Given the description of an element on the screen output the (x, y) to click on. 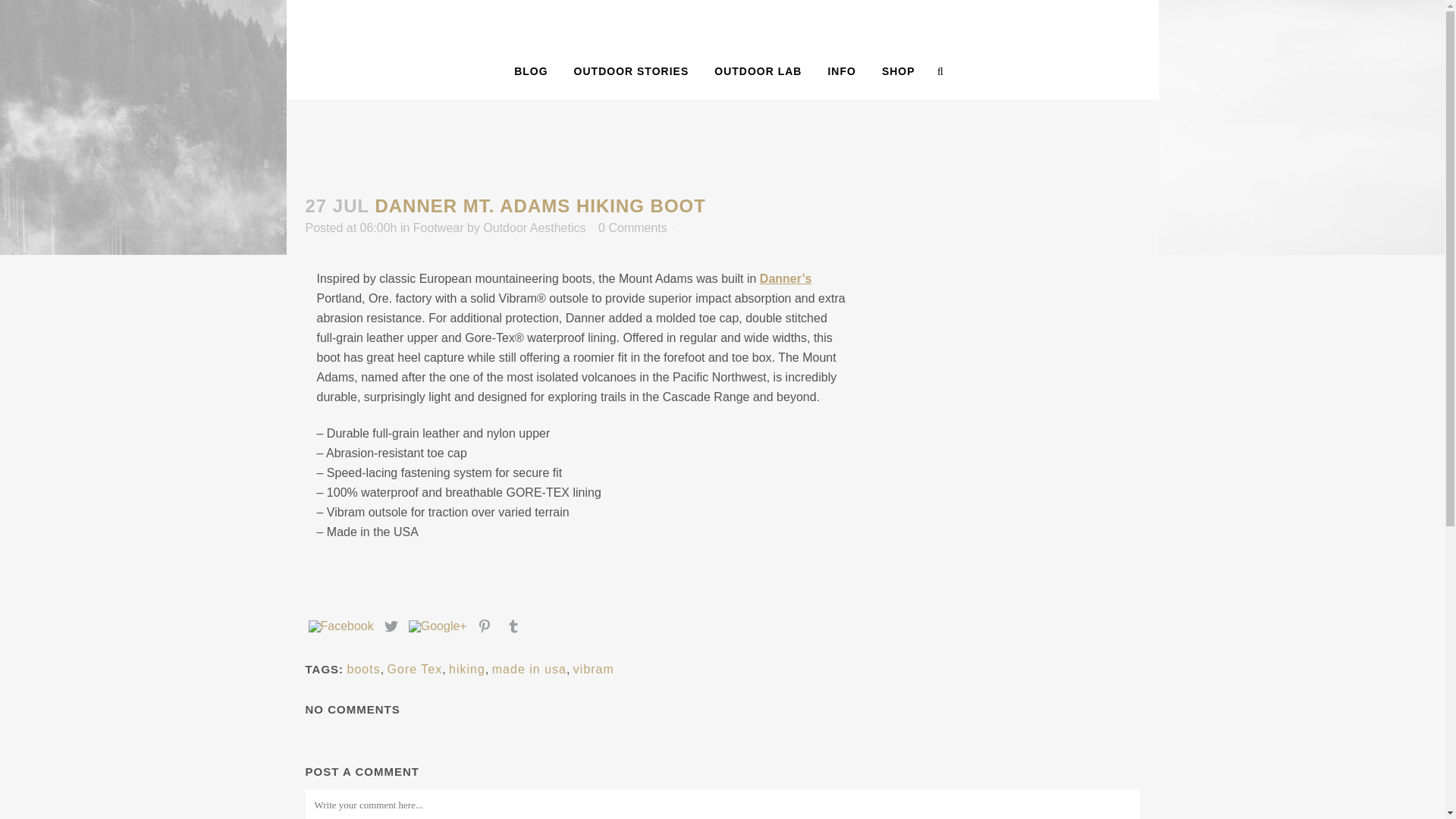
Twitter (391, 627)
hiking (466, 668)
Facebook (339, 626)
Danner Mt. Adams hiking boot (539, 205)
Gore Tex (414, 668)
Outdoor Aesthetics (534, 227)
boots (363, 668)
made in usa (722, 49)
0 Comments (529, 668)
